Given the description of an element on the screen output the (x, y) to click on. 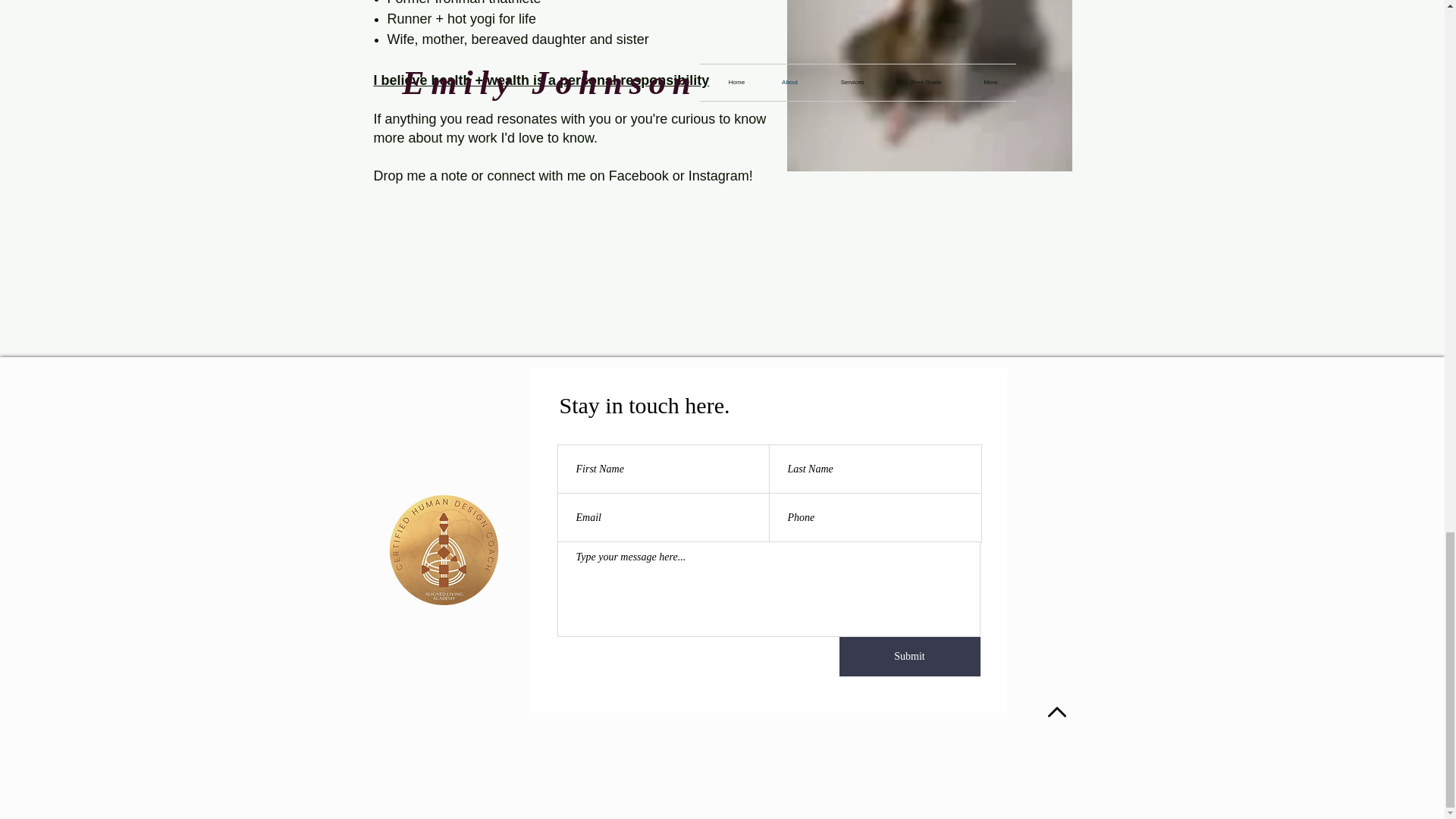
Submit (908, 656)
